Given the description of an element on the screen output the (x, y) to click on. 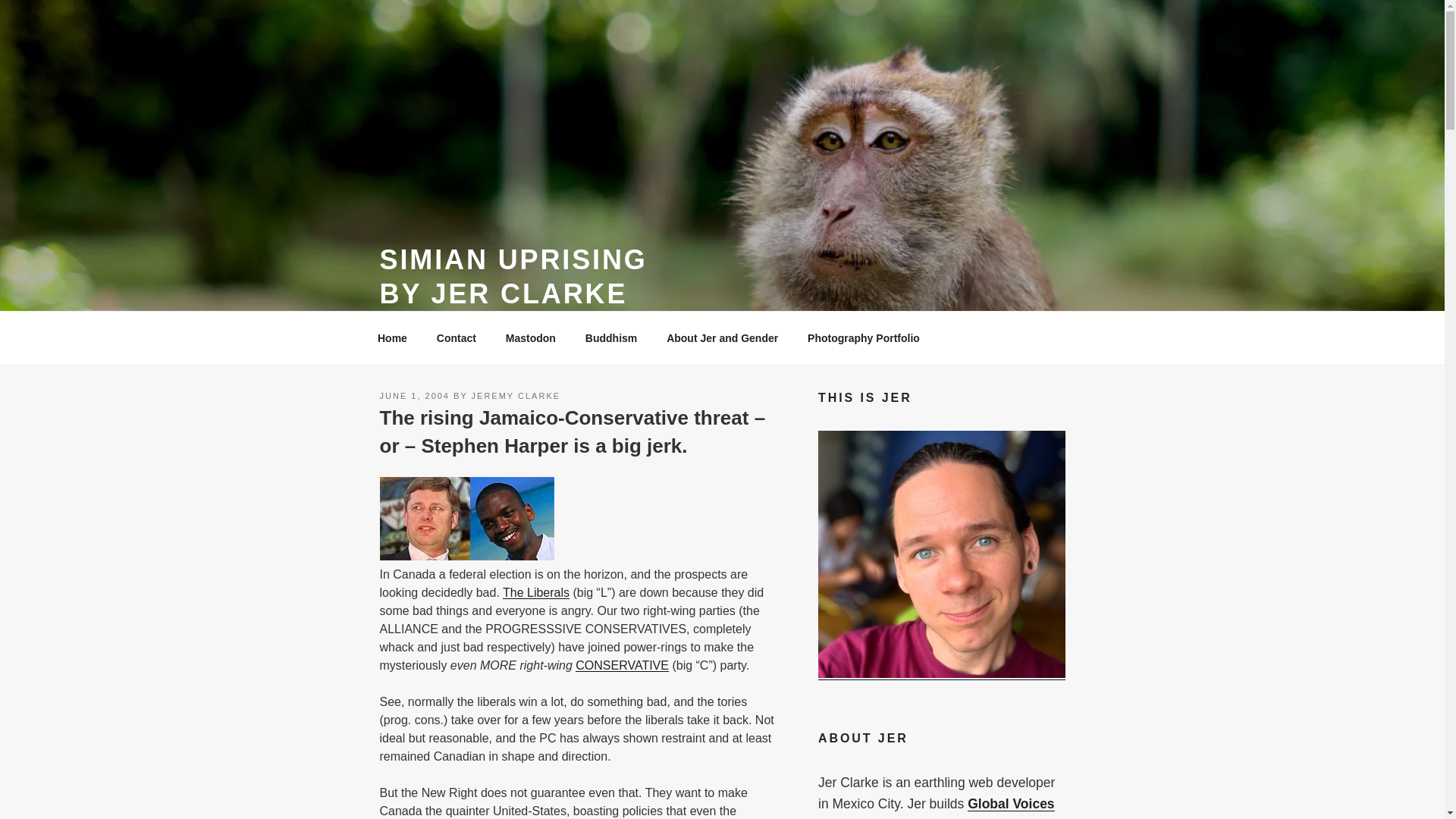
CONSERVATIVE (621, 665)
About Jer and Gender (722, 338)
The Liberals (535, 592)
Mastodon (530, 338)
Buddhism (610, 338)
Home (392, 338)
JEREMY CLARKE (515, 395)
Global Voices (1011, 803)
Contact (456, 338)
